Given the description of an element on the screen output the (x, y) to click on. 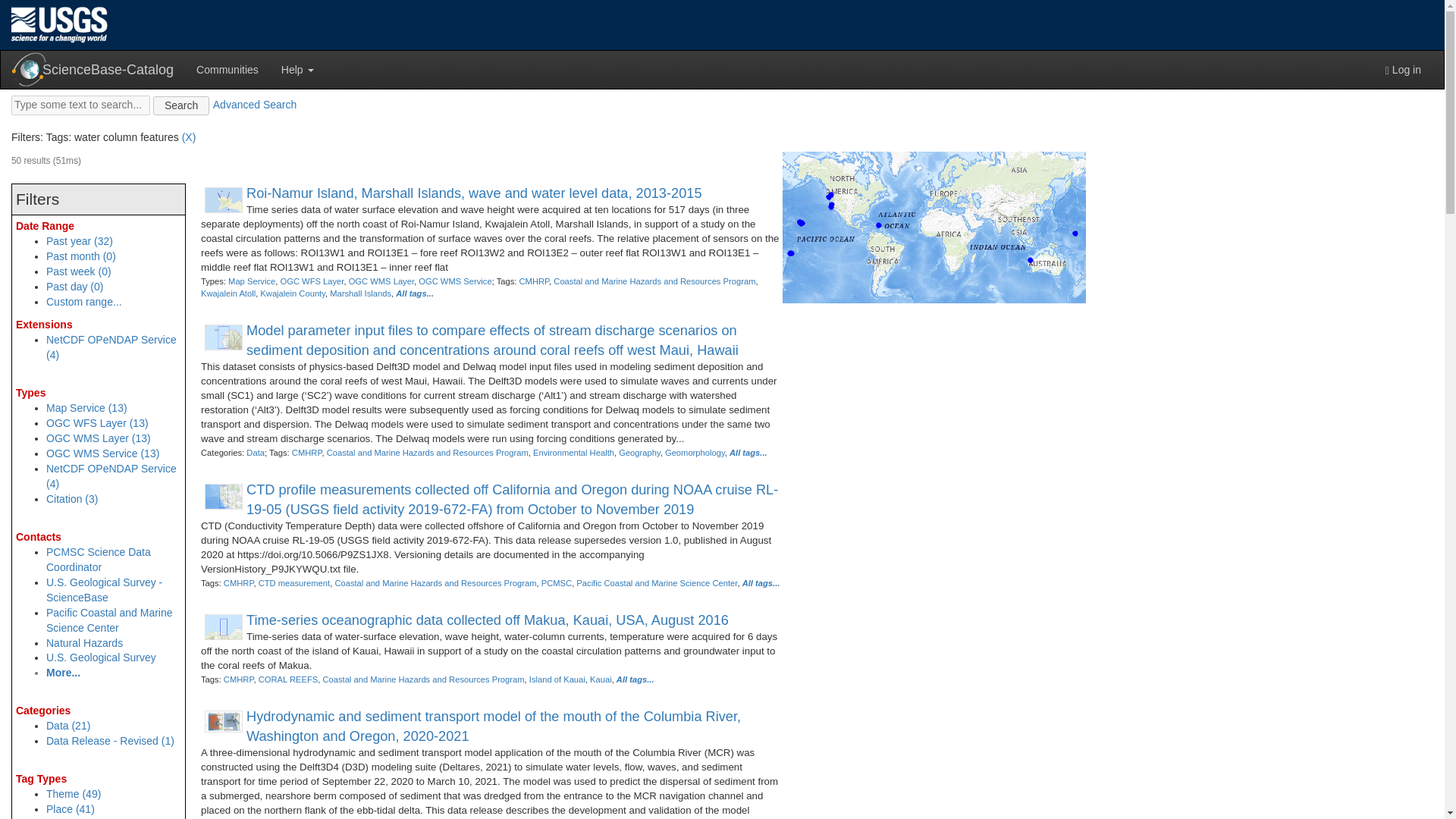
Pacific Coastal and Marine Science Center (109, 619)
Help (296, 69)
Home (59, 24)
ScienceBase (28, 69)
Map Service (251, 280)
Search (180, 105)
OGC WFS Layer (311, 280)
OGC WMS Service (455, 280)
U.S. Geological Survey (100, 657)
Custom range... (84, 301)
